Given the description of an element on the screen output the (x, y) to click on. 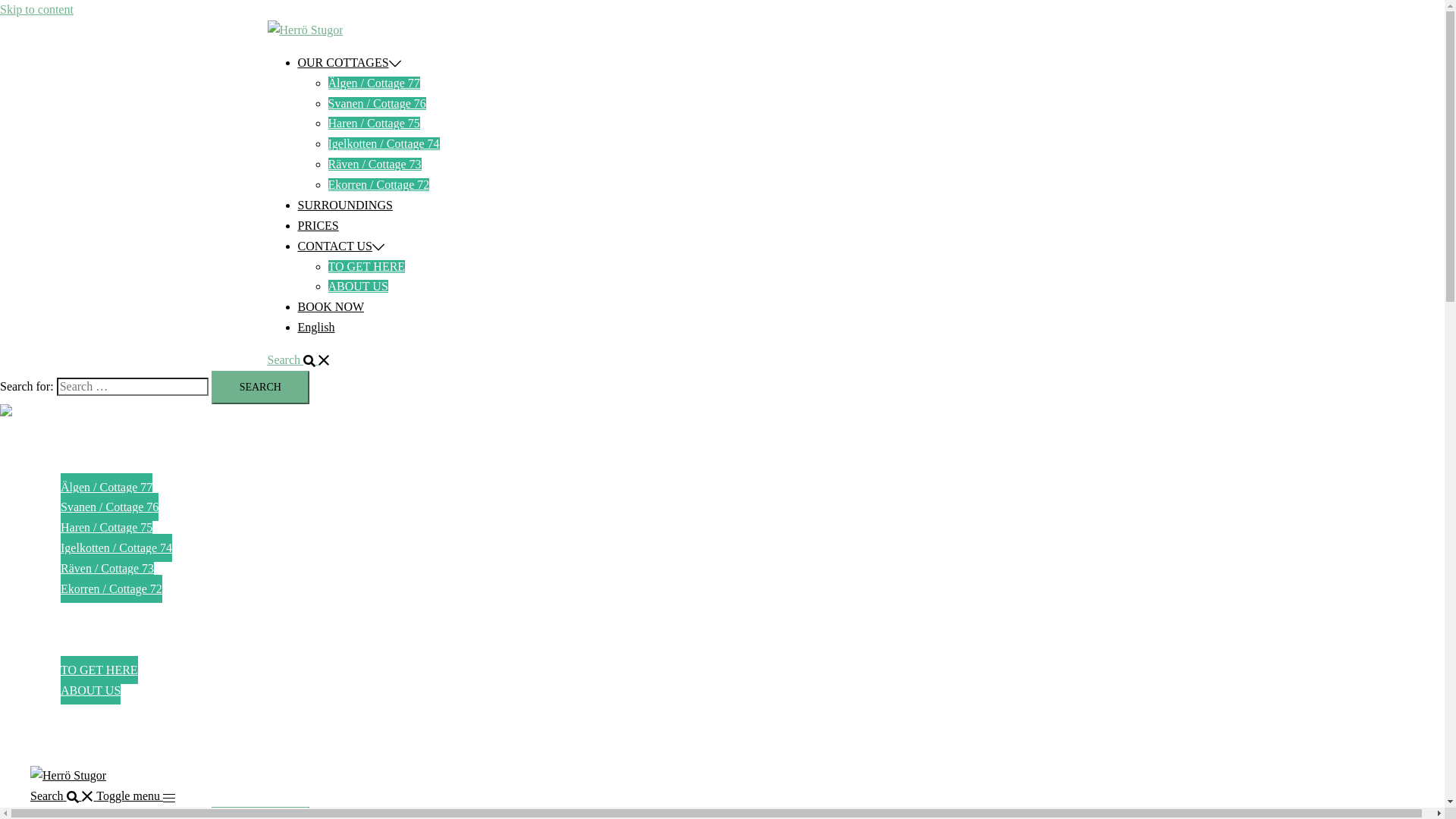
Close menu Element type: text (6, 433)
English Element type: text (48, 731)
BOOK NOW Element type: text (63, 710)
ABOUT US Element type: text (90, 690)
Search Element type: text (298, 359)
SURROUNDINGS Element type: text (344, 204)
Igelkotten / Cottage 74 Element type: text (116, 547)
Skip to content Element type: text (36, 9)
Haren / Cottage 75 Element type: text (106, 527)
CONTACT US Element type: text (334, 245)
Igelkotten / Cottage 74 Element type: text (383, 143)
CONTACT US Element type: text (67, 650)
BOOK NOW Element type: text (330, 306)
Ekorren / Cottage 72 Element type: text (378, 184)
PRICES Element type: text (50, 629)
SURROUNDINGS Element type: text (77, 609)
TO GET HERE Element type: text (365, 265)
Toggle menu Element type: text (135, 795)
Search Element type: text (260, 387)
Haren / Cottage 75 Element type: text (373, 122)
PRICES Element type: text (317, 225)
Svanen / Cottage 76 Element type: text (109, 506)
English Element type: text (315, 326)
Ekorren / Cottage 72 Element type: text (111, 588)
ABOUT US Element type: text (357, 285)
OUR COTTAGES Element type: text (342, 62)
Svanen / Cottage 76 Element type: text (376, 103)
TO GET HERE Element type: text (99, 669)
Search Element type: text (63, 795)
OUR COTTAGES Element type: text (75, 466)
